Given the description of an element on the screen output the (x, y) to click on. 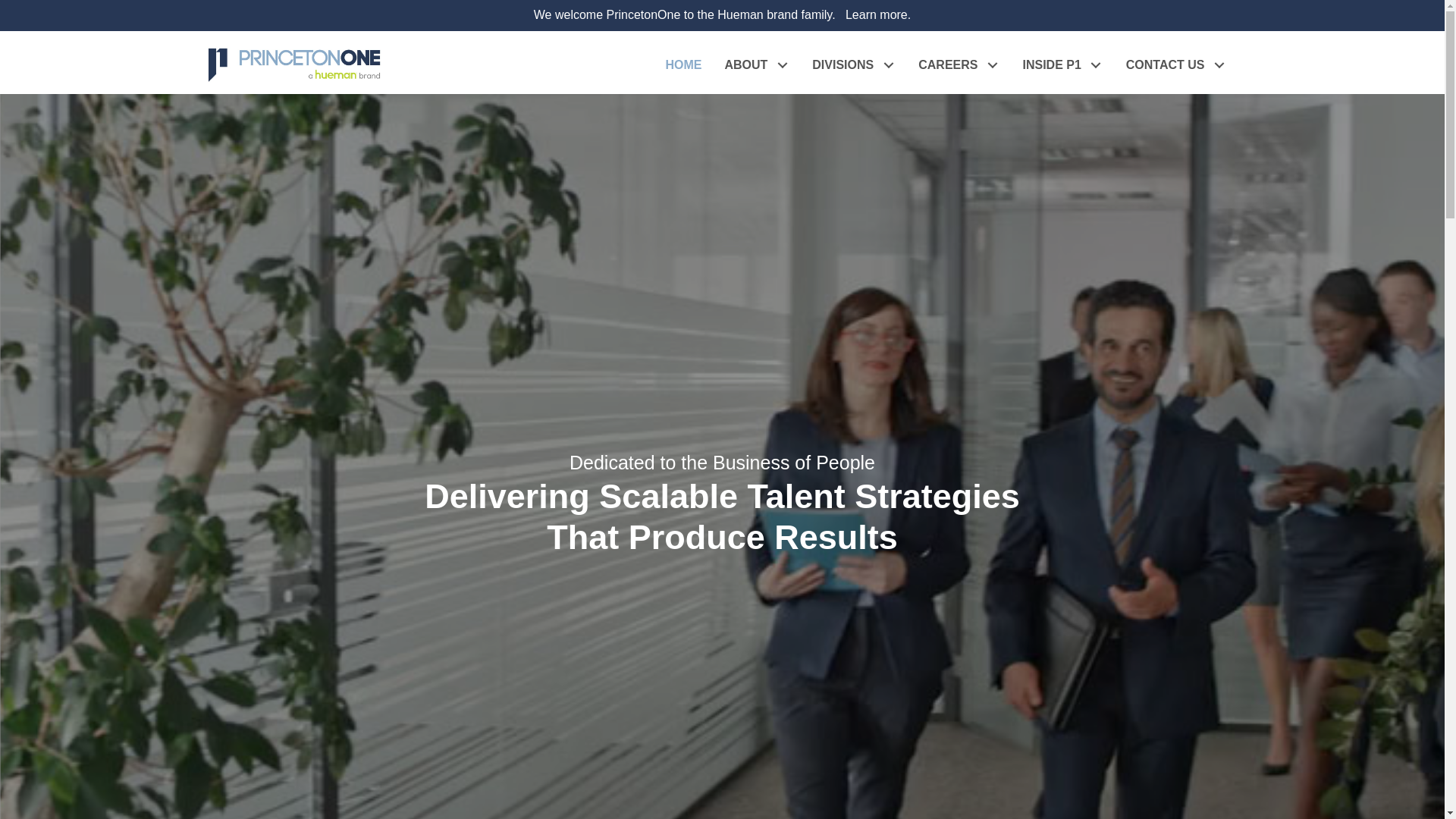
ABOUT (756, 64)
DIVISIONS (853, 64)
HOME (683, 64)
CAREERS (958, 64)
INSIDE P1 (1061, 64)
CONTACT US (1177, 64)
